Given the description of an element on the screen output the (x, y) to click on. 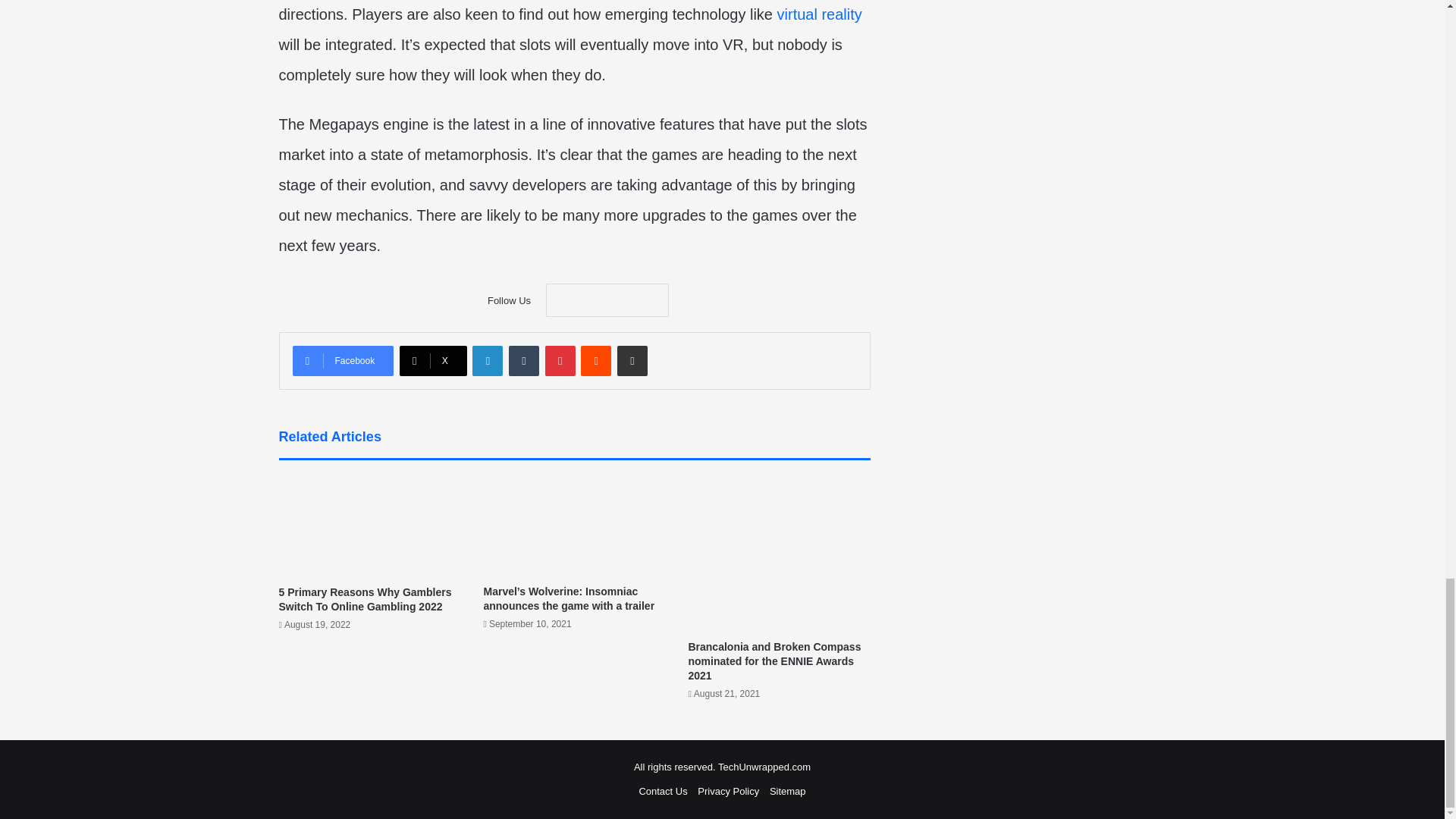
Tumblr (523, 360)
Facebook (343, 360)
Share via Email (632, 360)
Pinterest (559, 360)
Facebook (343, 360)
LinkedIn (486, 360)
Reddit (595, 360)
virtual reality (819, 13)
